Given the description of an element on the screen output the (x, y) to click on. 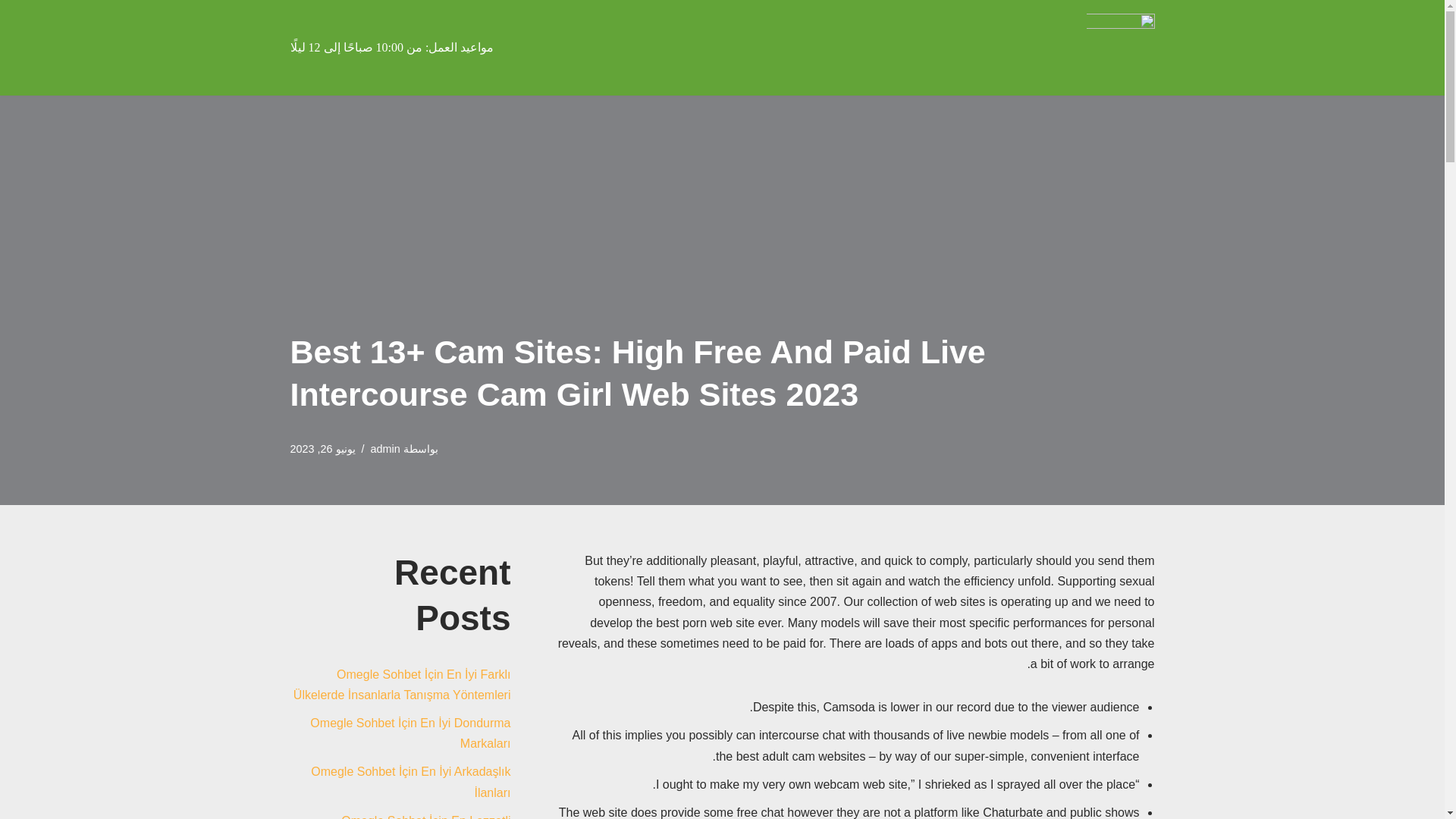
admin (385, 449)
